Given the description of an element on the screen output the (x, y) to click on. 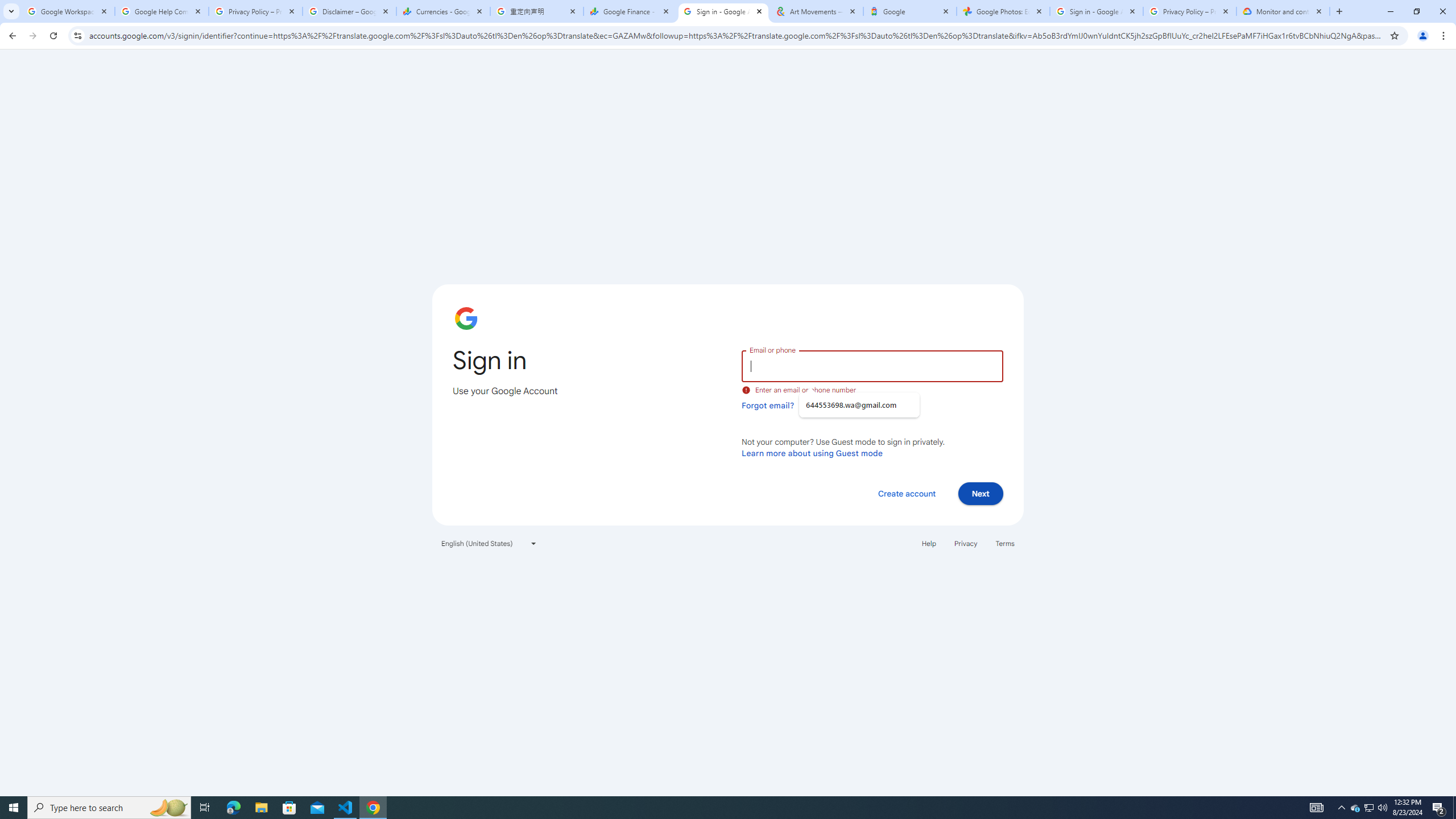
Learn more about using Guest mode (812, 452)
Sign in - Google Accounts (722, 11)
Google Workspace Admin Community (67, 11)
Currencies - Google Finance (443, 11)
